Given the description of an element on the screen output the (x, y) to click on. 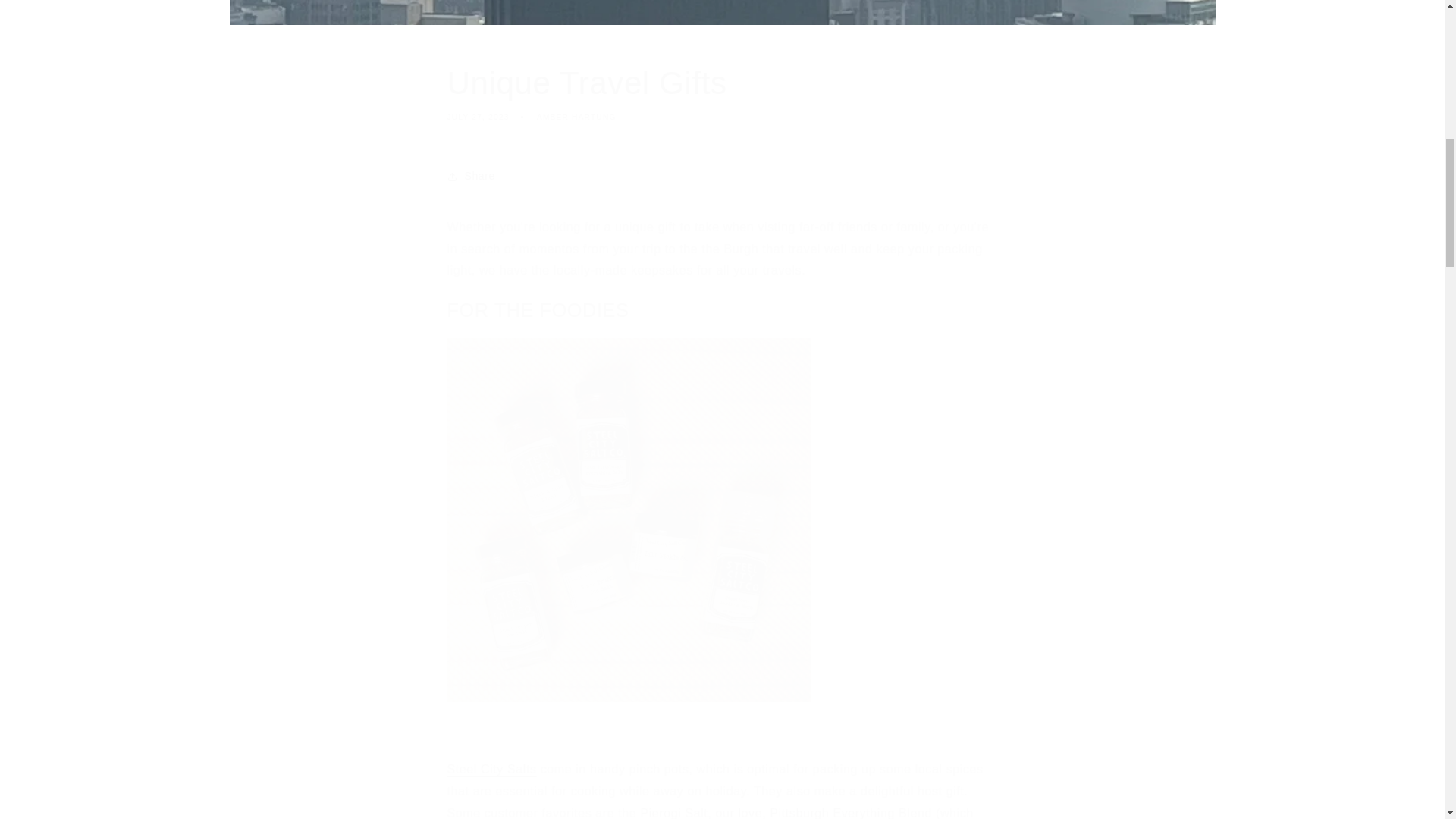
Share (721, 92)
